Given the description of an element on the screen output the (x, y) to click on. 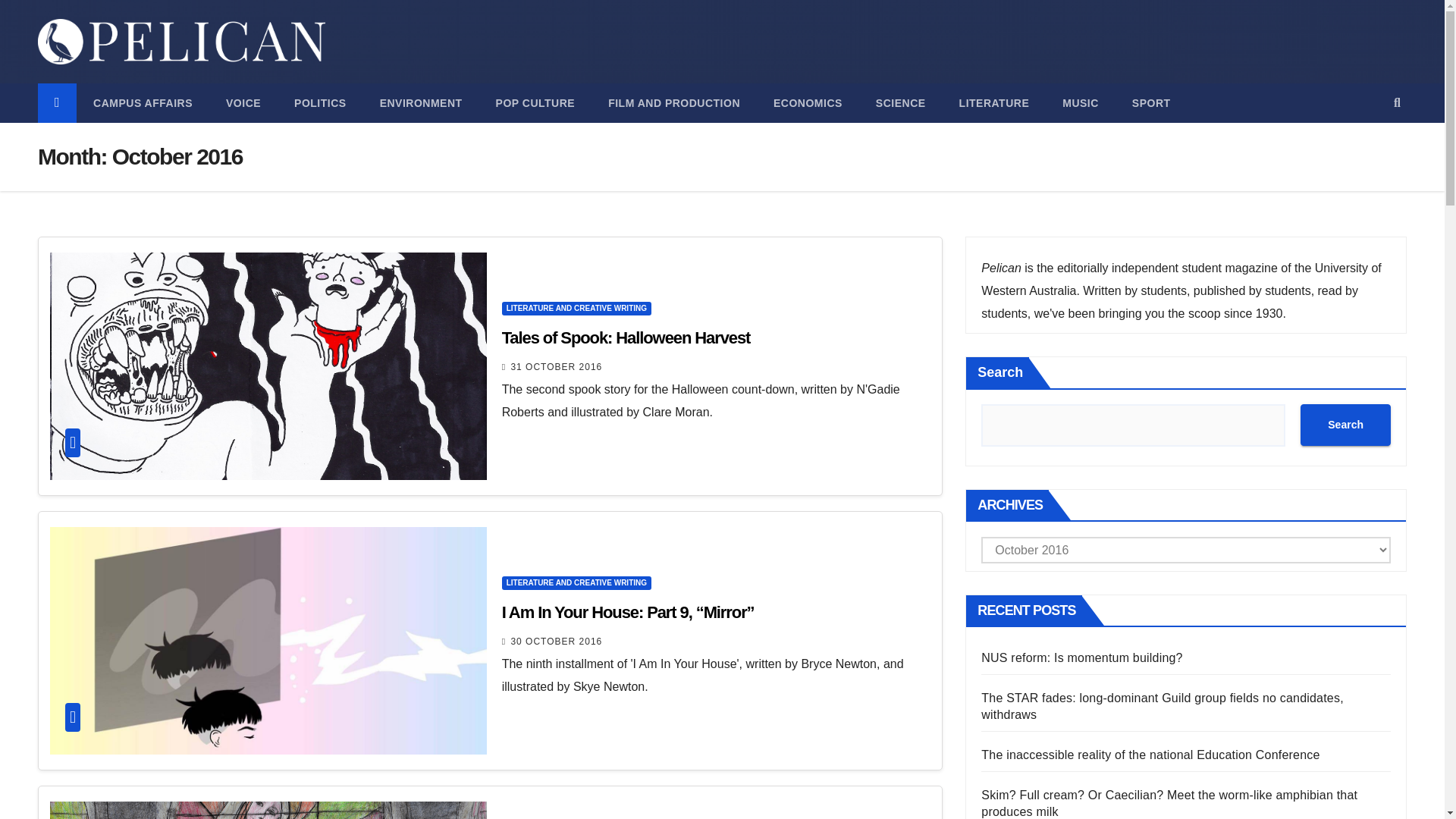
LITERATURE AND CREATIVE WRITING (576, 308)
LITERATURE (994, 102)
SPORT (1151, 102)
Pop Culture (535, 102)
Politics (320, 102)
Economics (808, 102)
POLITICS (320, 102)
FILM AND PRODUCTION (674, 102)
Voice (243, 102)
CAMPUS AFFAIRS (143, 102)
